Given the description of an element on the screen output the (x, y) to click on. 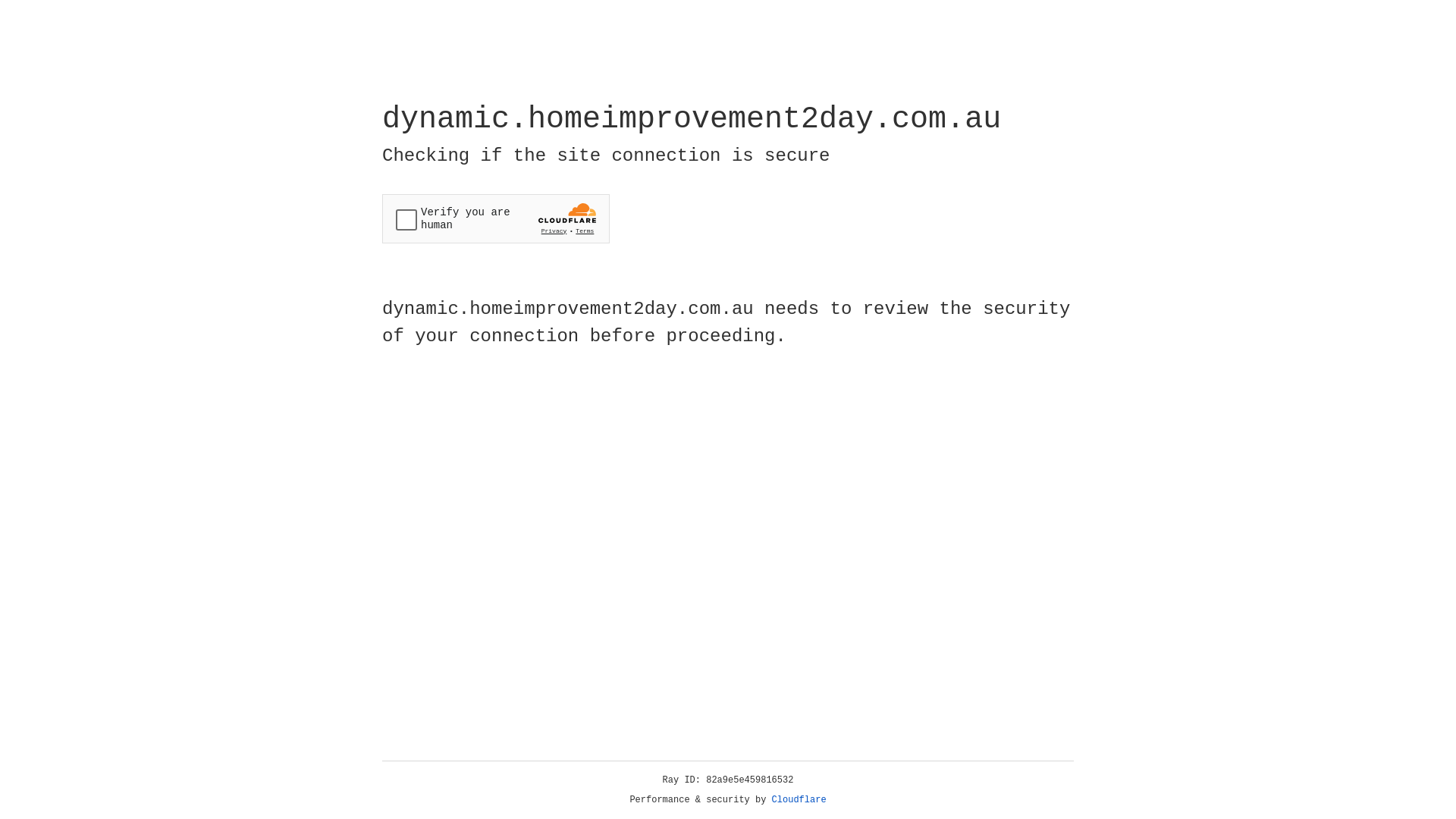
Cloudflare Element type: text (798, 799)
Widget containing a Cloudflare security challenge Element type: hover (495, 218)
